Given the description of an element on the screen output the (x, y) to click on. 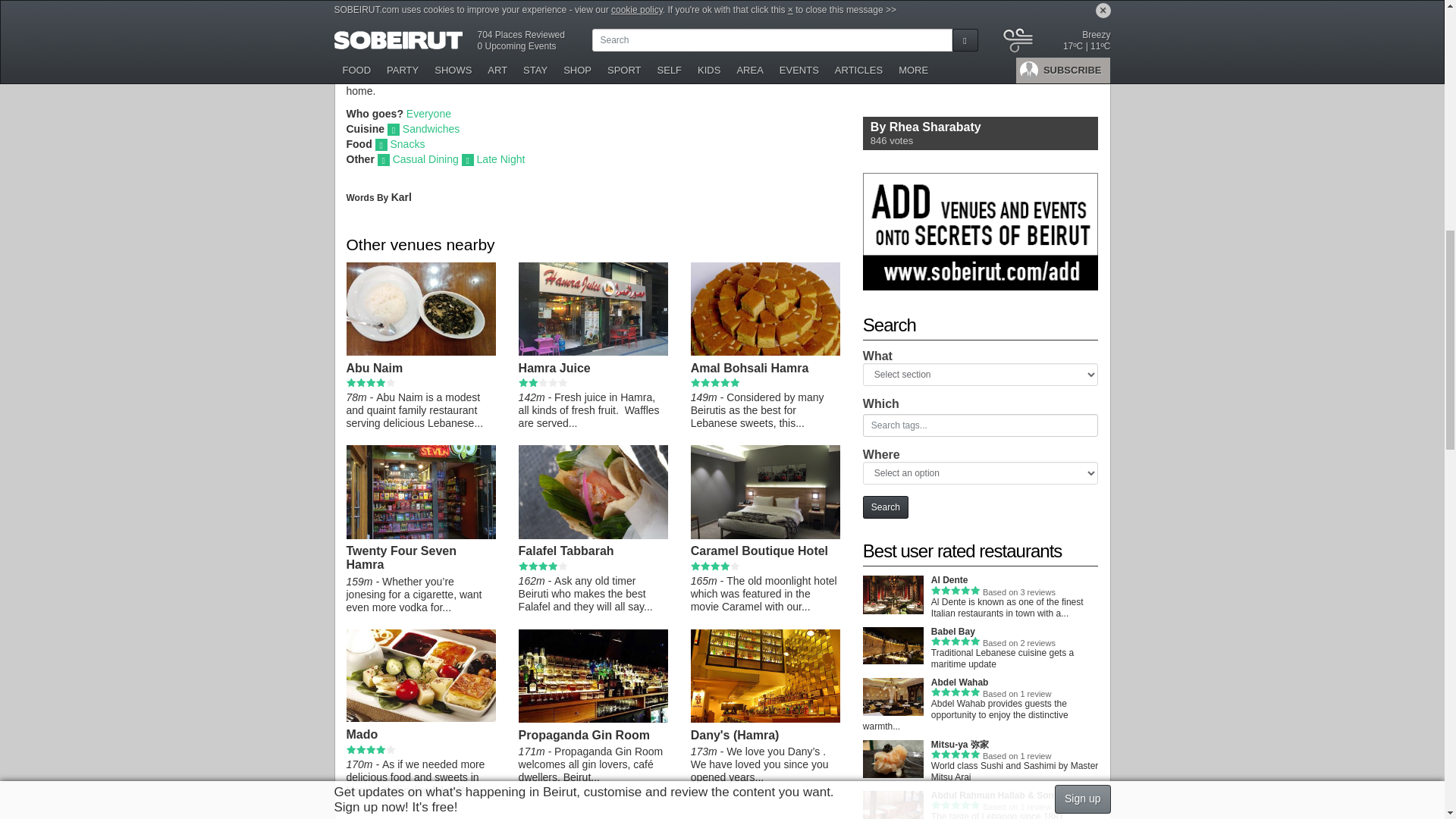
Mado (420, 717)
Hamra Juice (593, 351)
Abu Naim (420, 351)
Amal Bohsali Hamra (765, 351)
Falafel Tabbarah (593, 535)
Propaganda Gin Room (593, 718)
Twenty Four Seven Hamra (420, 535)
Caramel Boutique Hotel (765, 535)
